Given the description of an element on the screen output the (x, y) to click on. 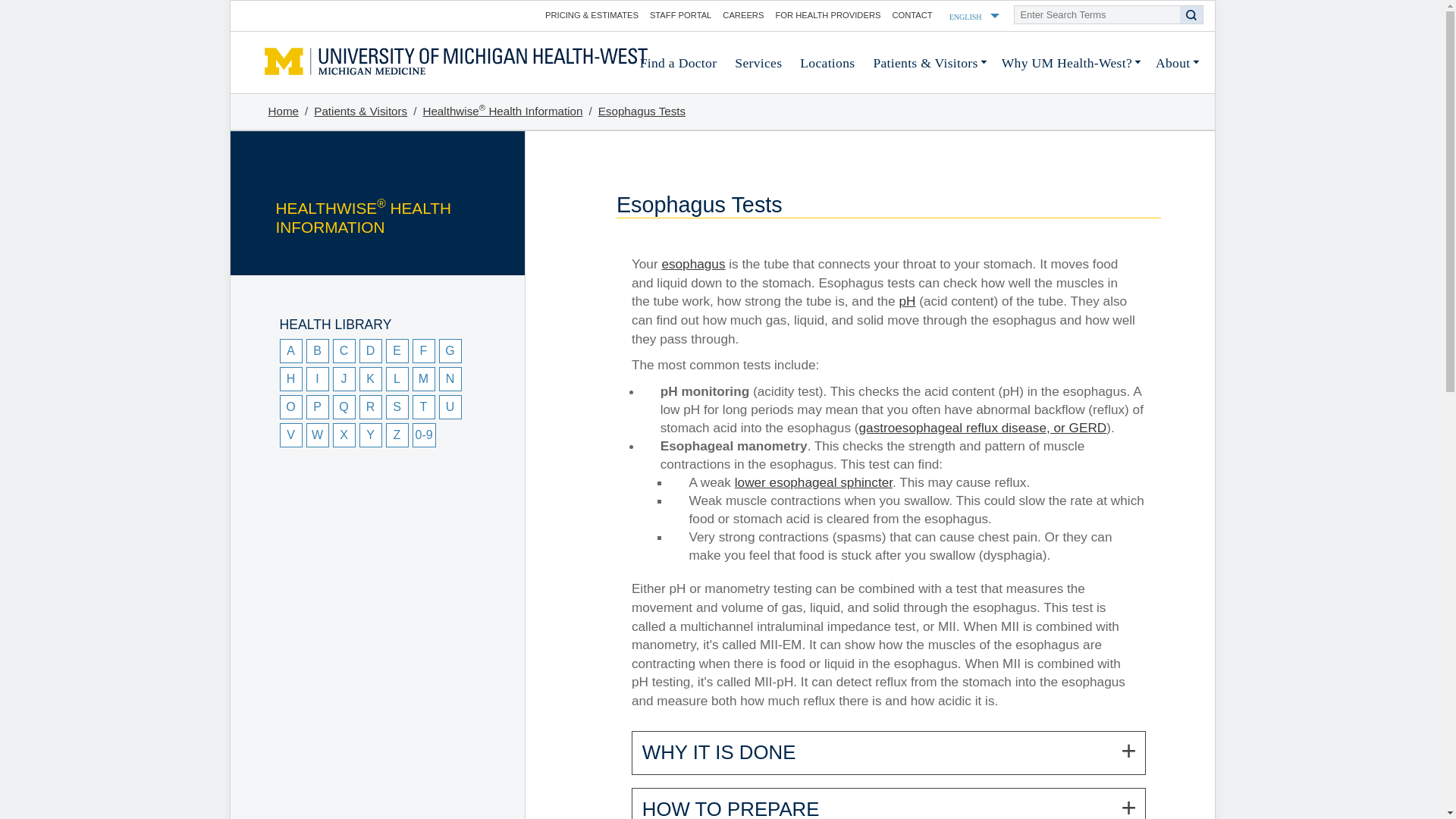
University of Michigan Health-West (454, 61)
